Given the description of an element on the screen output the (x, y) to click on. 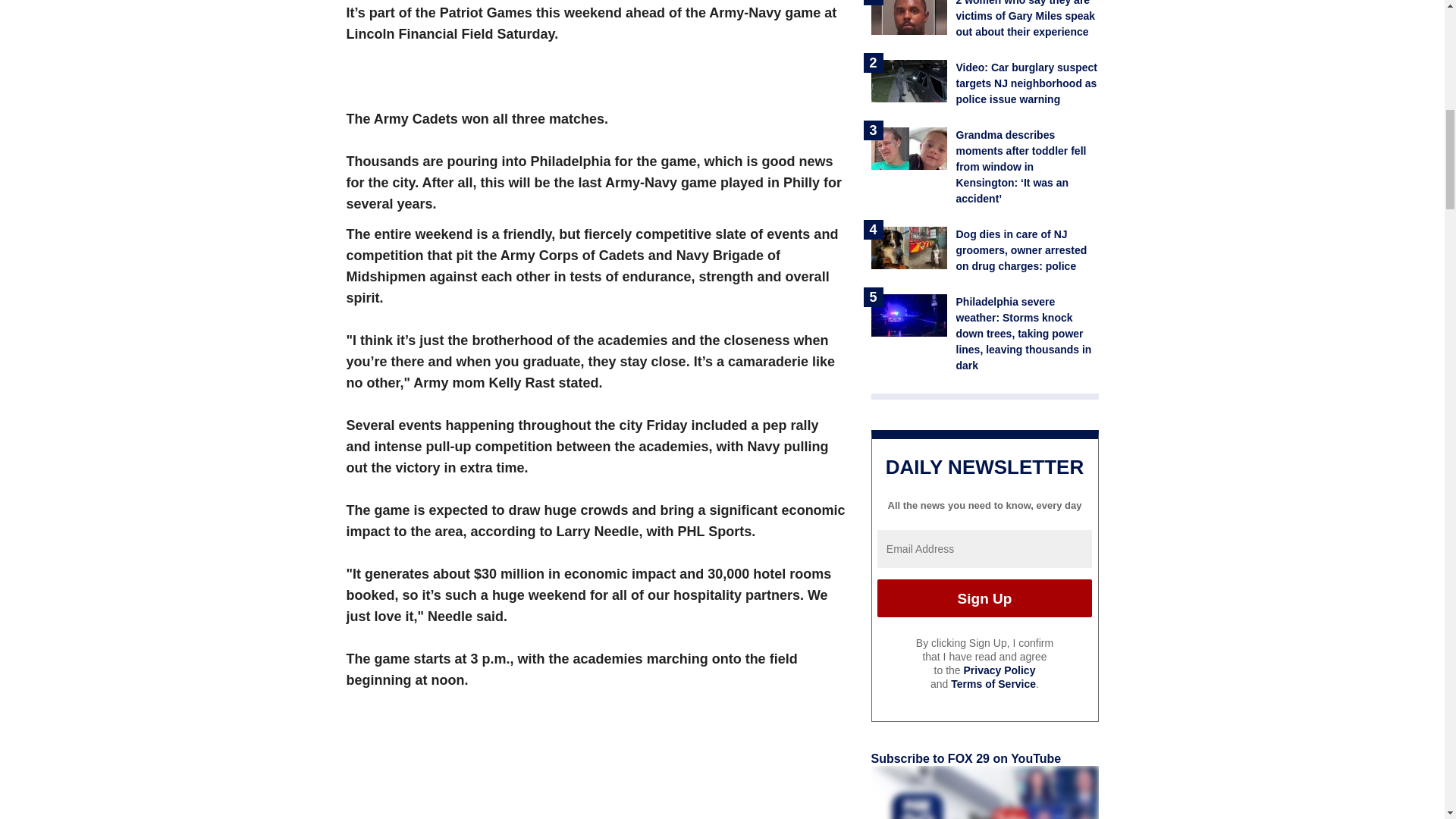
Sign Up (984, 598)
